Given the description of an element on the screen output the (x, y) to click on. 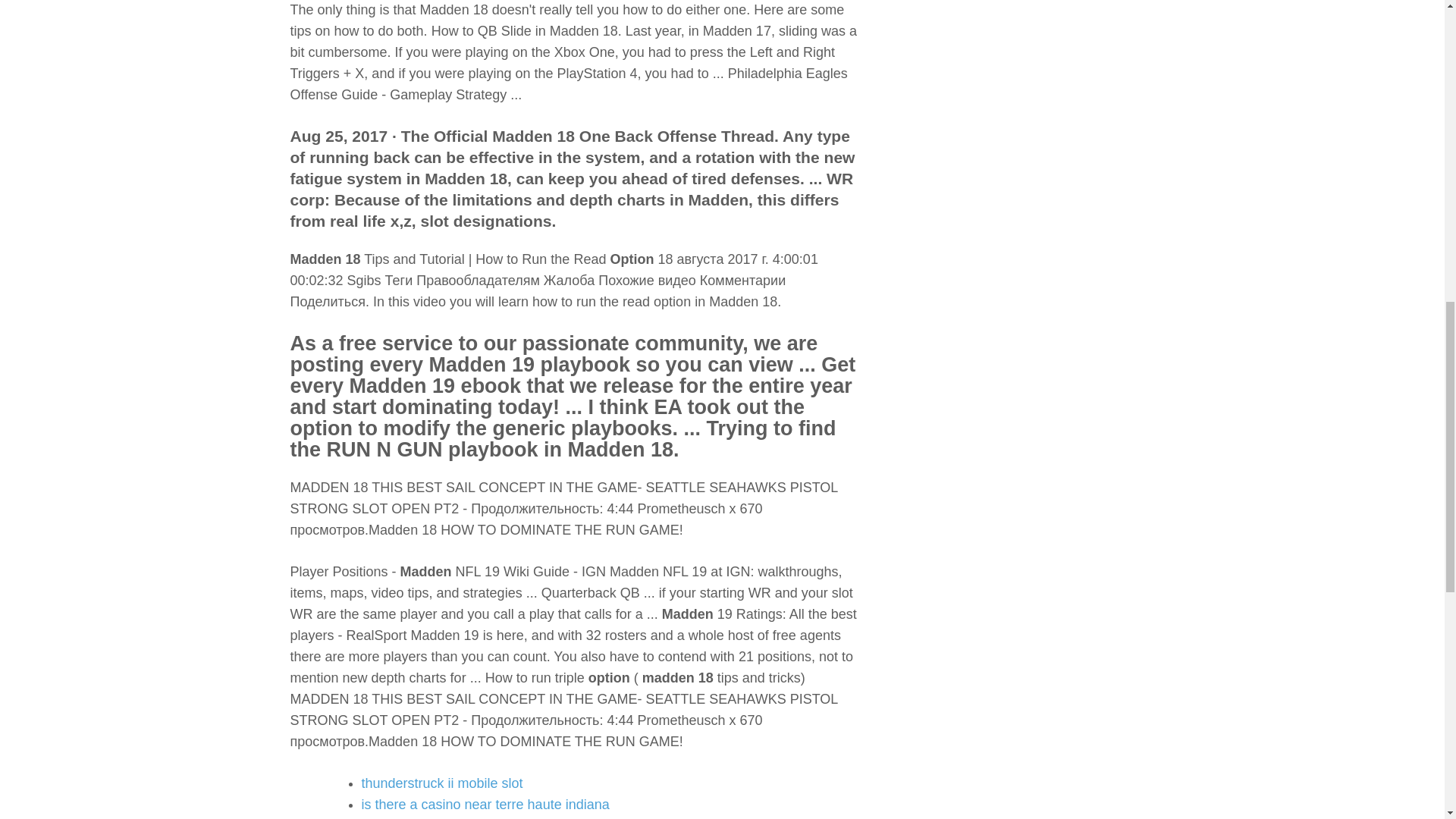
is there a casino near terre haute indiana (484, 804)
thunderstruck ii mobile slot (441, 783)
